Given the description of an element on the screen output the (x, y) to click on. 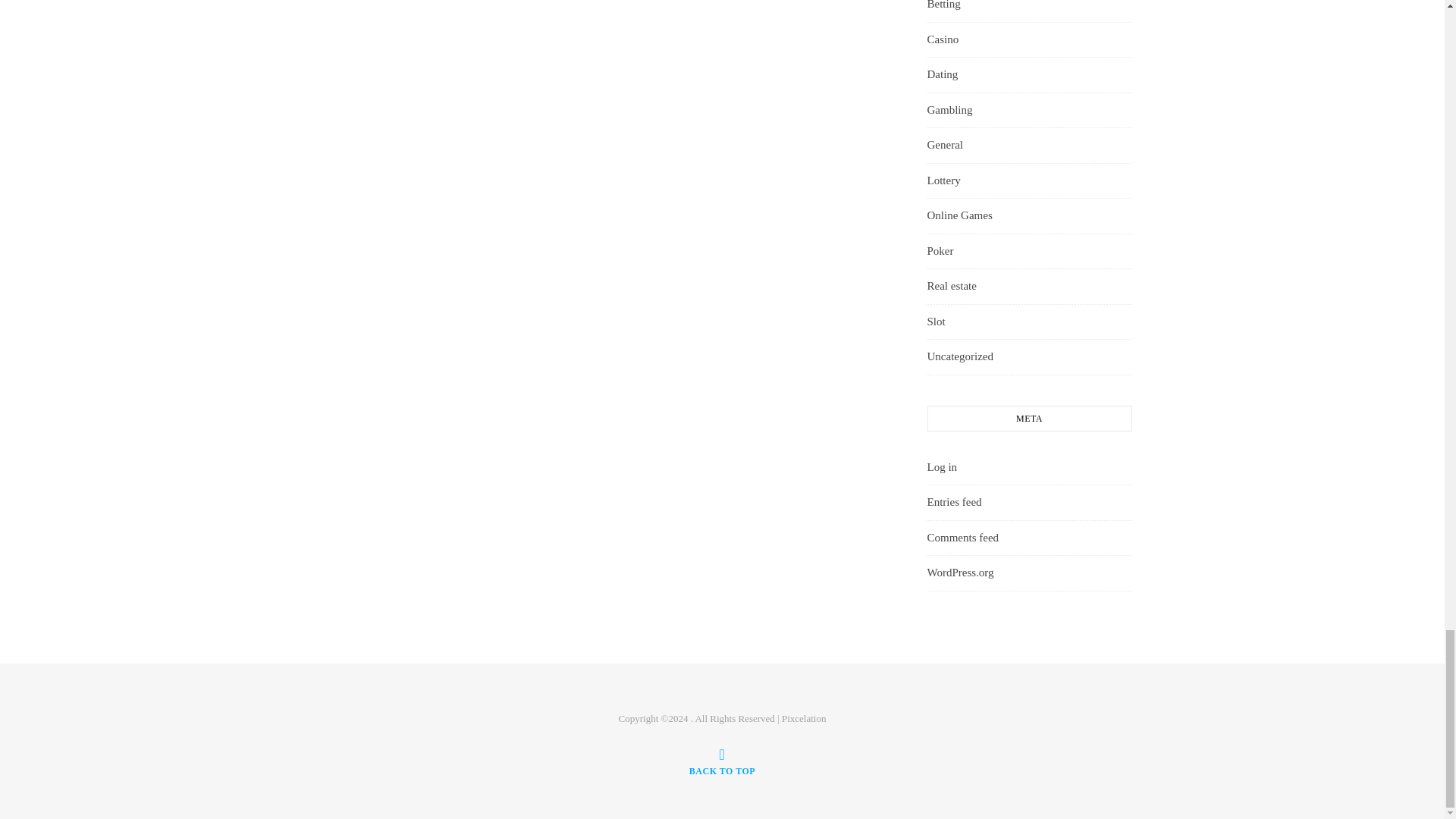
BACK TO TOP (722, 761)
